Given the description of an element on the screen output the (x, y) to click on. 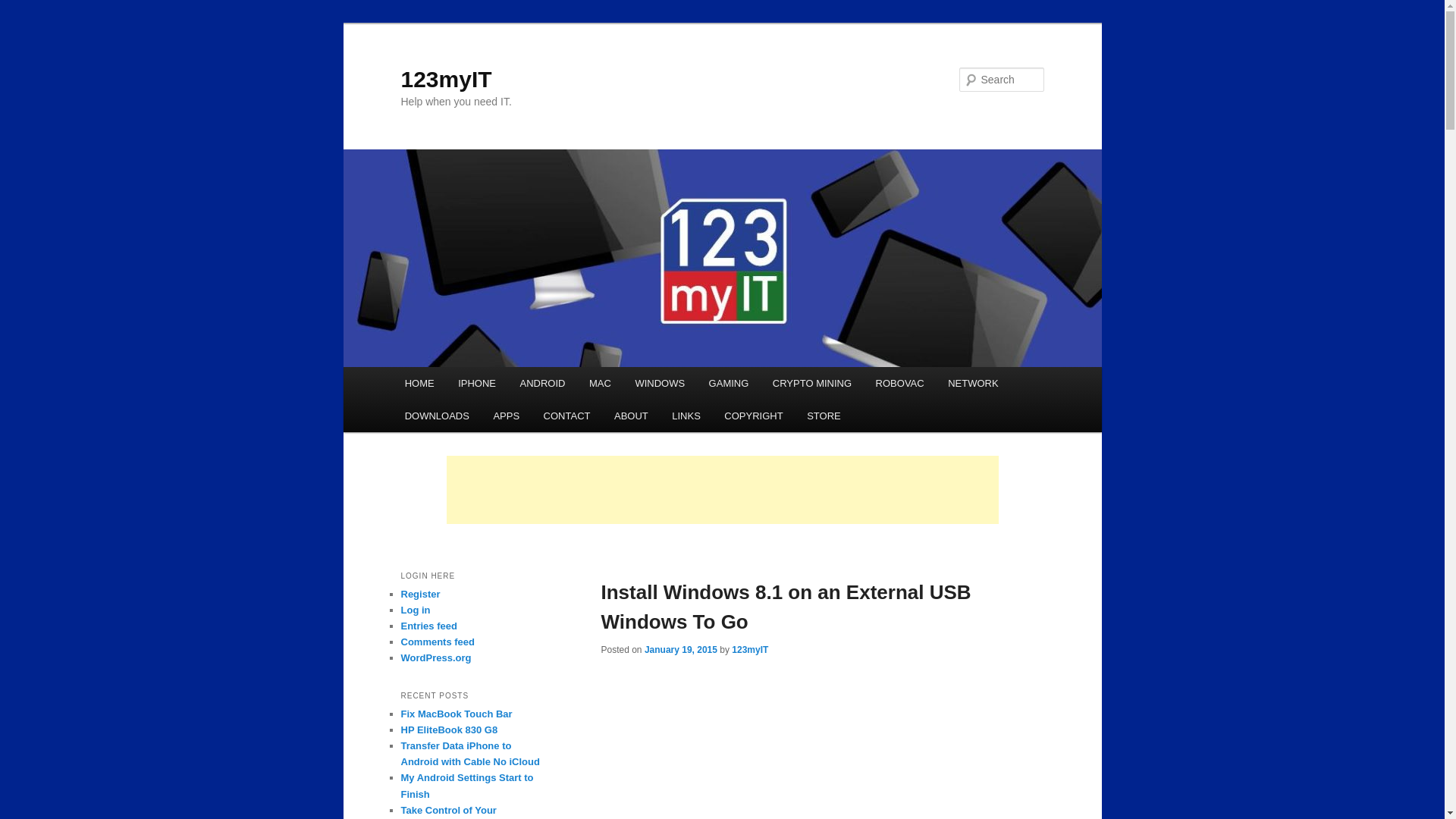
WINDOWS (660, 382)
ROBOVAC (899, 382)
CRYPTO MINING (811, 382)
HOME (419, 382)
CONTACT (566, 415)
1:59 pm (681, 649)
Crypto Mining Category for all Crypto Mining posts. (811, 382)
NETWORK (973, 382)
APPS (506, 415)
DOWNLOADS (437, 415)
IPHONE (475, 382)
GAMING (728, 382)
COPYRIGHT (753, 415)
ABOUT (630, 415)
123myIT (446, 78)
